Given the description of an element on the screen output the (x, y) to click on. 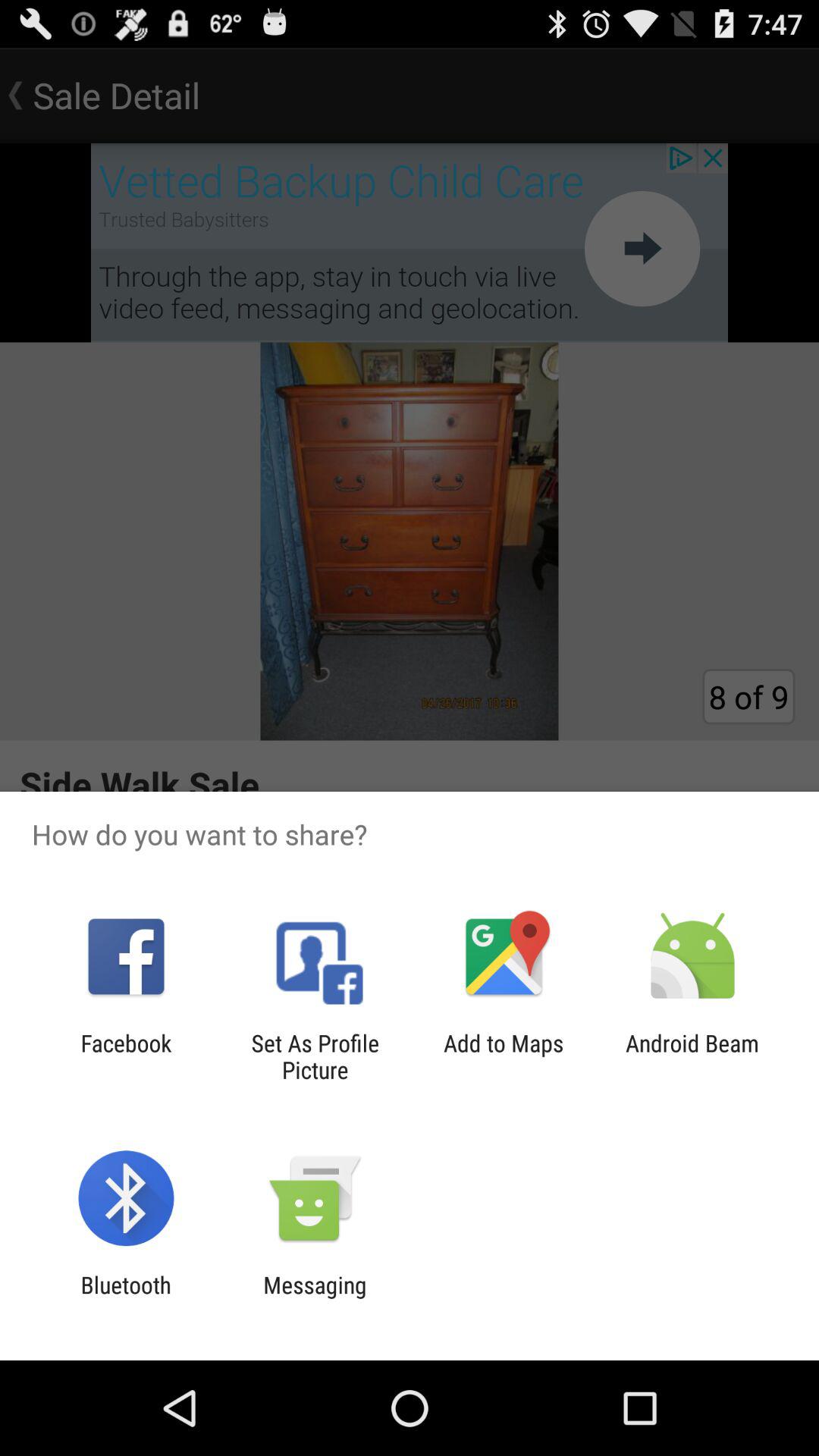
turn off the app to the right of add to maps icon (692, 1056)
